Given the description of an element on the screen output the (x, y) to click on. 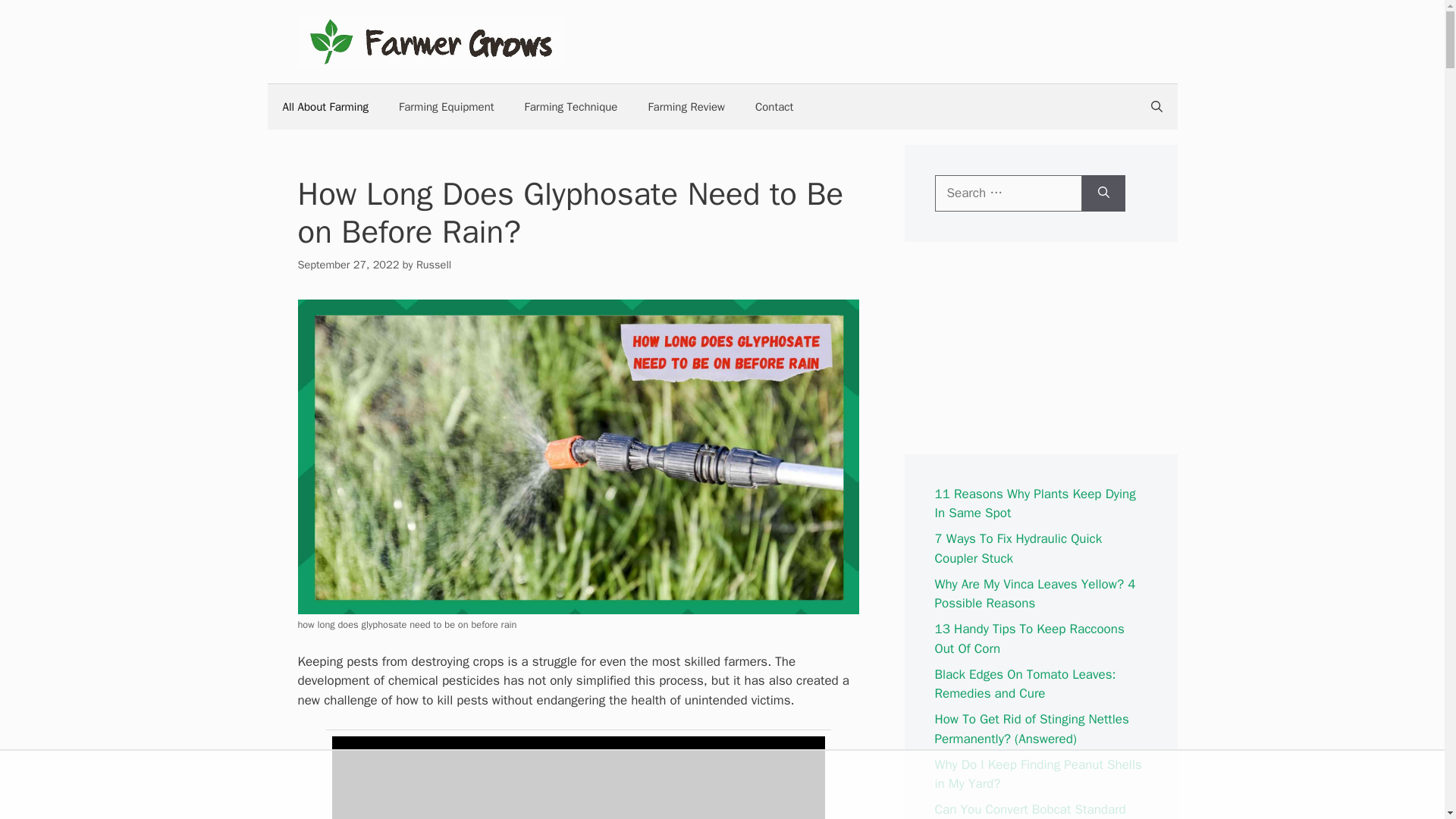
All About Farming (325, 106)
Why Are My Vinca Leaves Yellow? 4 Possible Reasons (1034, 593)
13 Handy Tips To Keep Raccoons Out Of Corn (1029, 638)
Black Edges On Tomato Leaves: Remedies and Cure (1024, 683)
Search for: (1007, 193)
Farmer Grows (429, 40)
Can You Convert Bobcat Standard Controls to Joystick? (1029, 810)
Farmer Grows (429, 41)
7 Ways To Fix Hydraulic Quick Coupler Stuck (1018, 548)
View all posts by Russell (433, 264)
Russell (433, 264)
Why Do I Keep Finding Peanut Shells in My Yard? (1037, 774)
Farming Technique (571, 106)
Farming Review (685, 106)
